Given the description of an element on the screen output the (x, y) to click on. 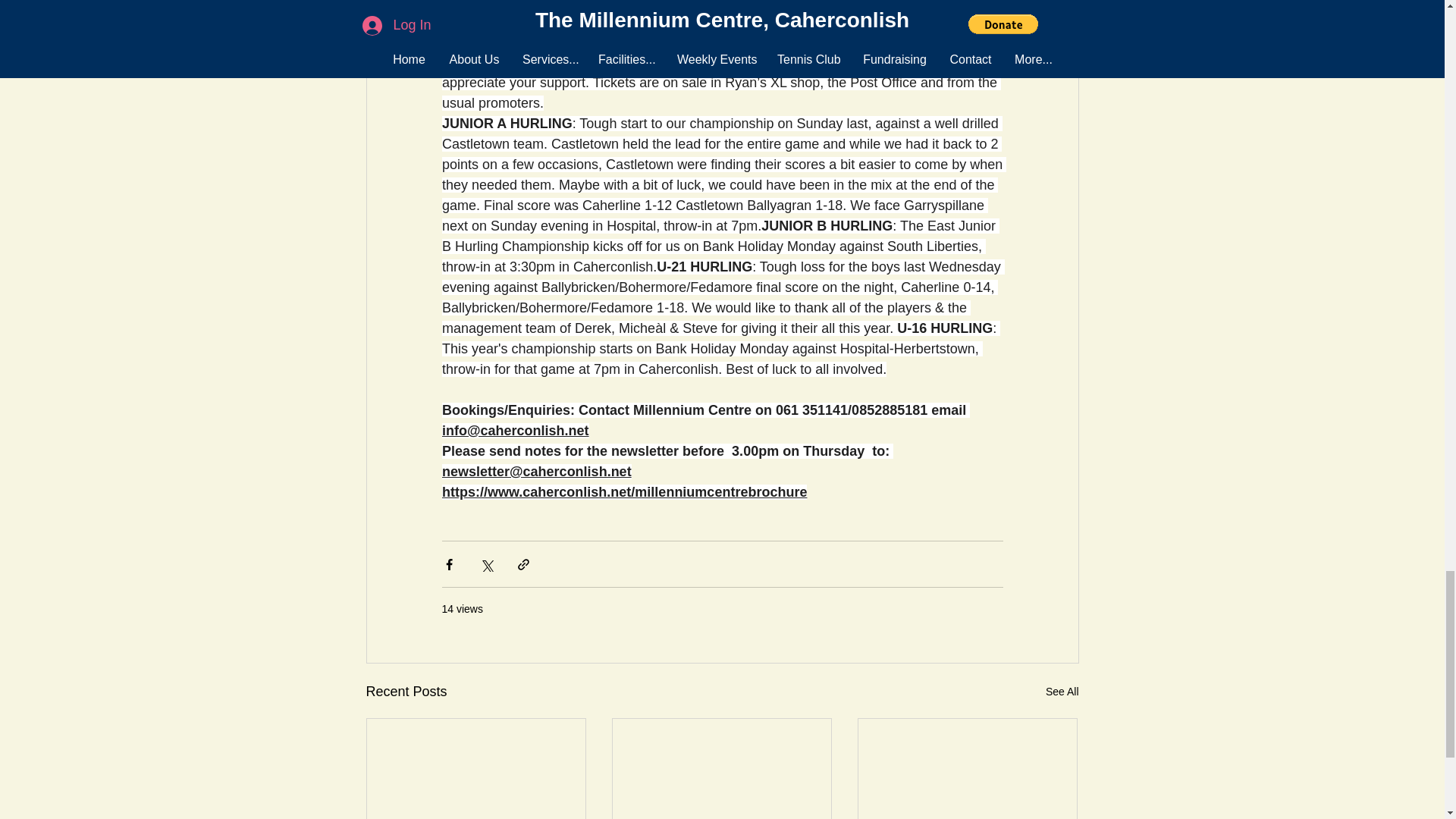
See All (1061, 691)
